Given the description of an element on the screen output the (x, y) to click on. 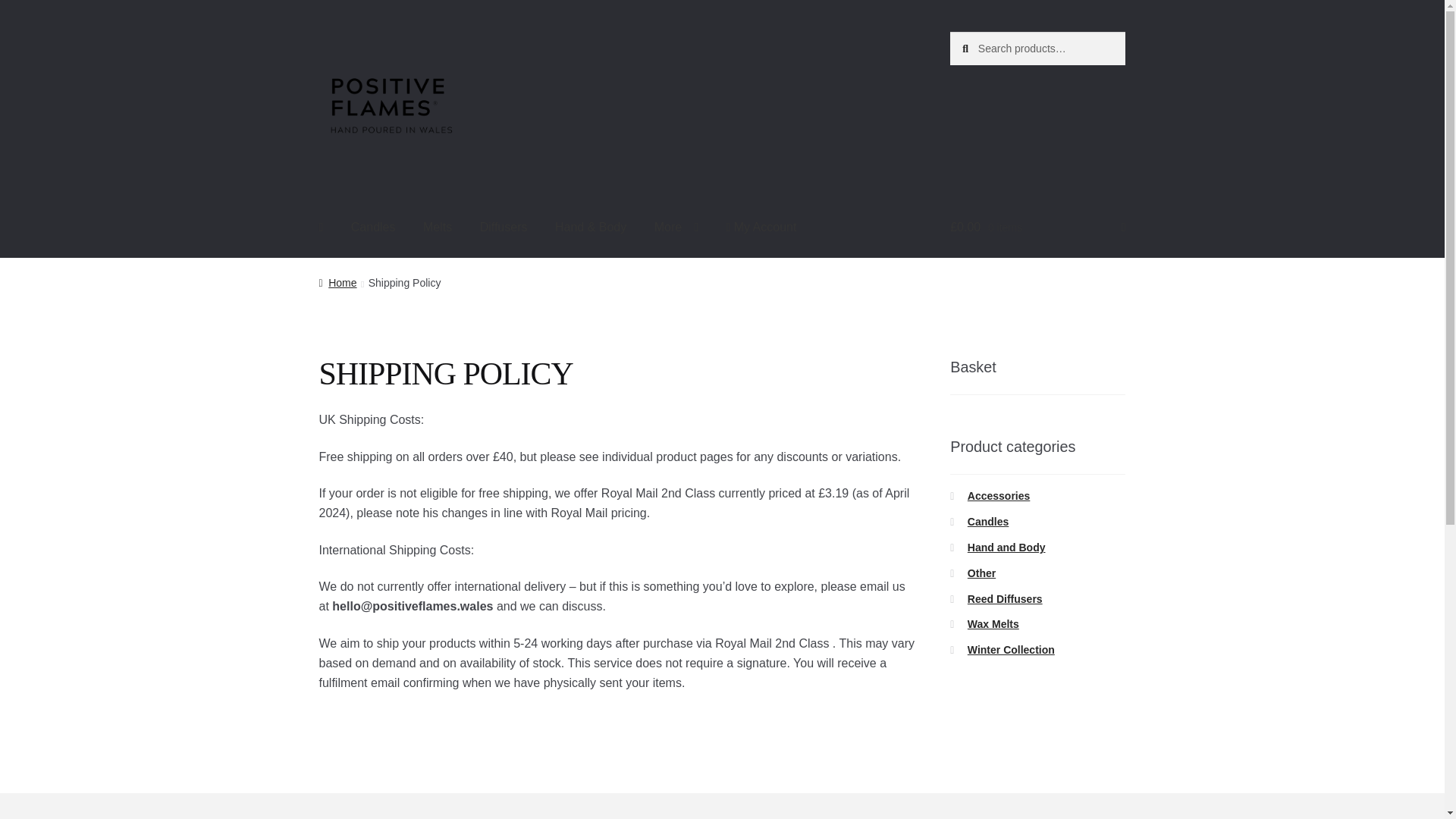
Diffusers (503, 227)
View your shopping basket (1037, 227)
Candles (988, 521)
Melts (437, 227)
My Account (760, 227)
Home (337, 282)
Candles (373, 227)
Accessories (999, 495)
Hand and Body (1006, 547)
More (676, 227)
